Given the description of an element on the screen output the (x, y) to click on. 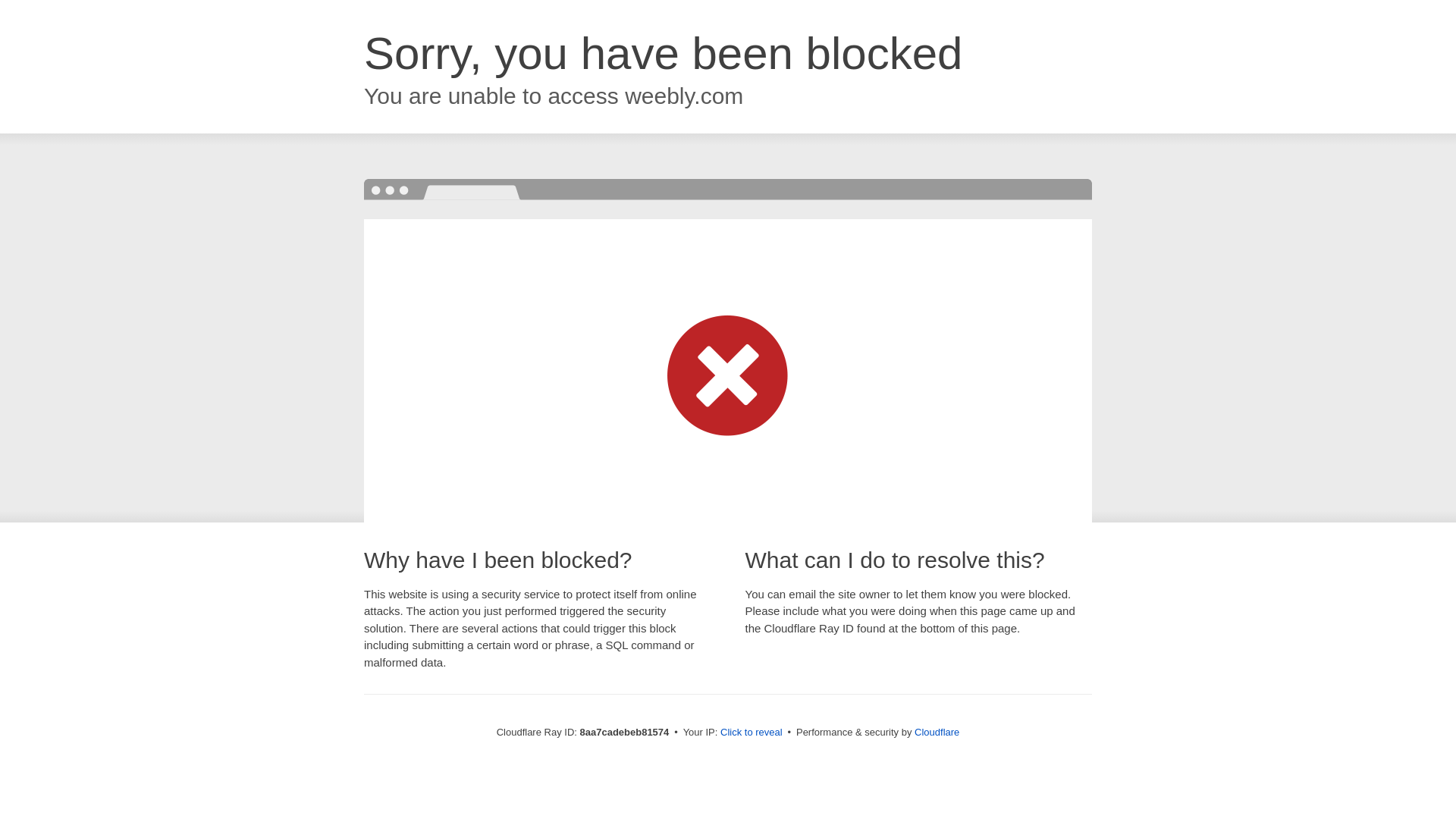
Cloudflare (936, 731)
Click to reveal (751, 732)
